Given the description of an element on the screen output the (x, y) to click on. 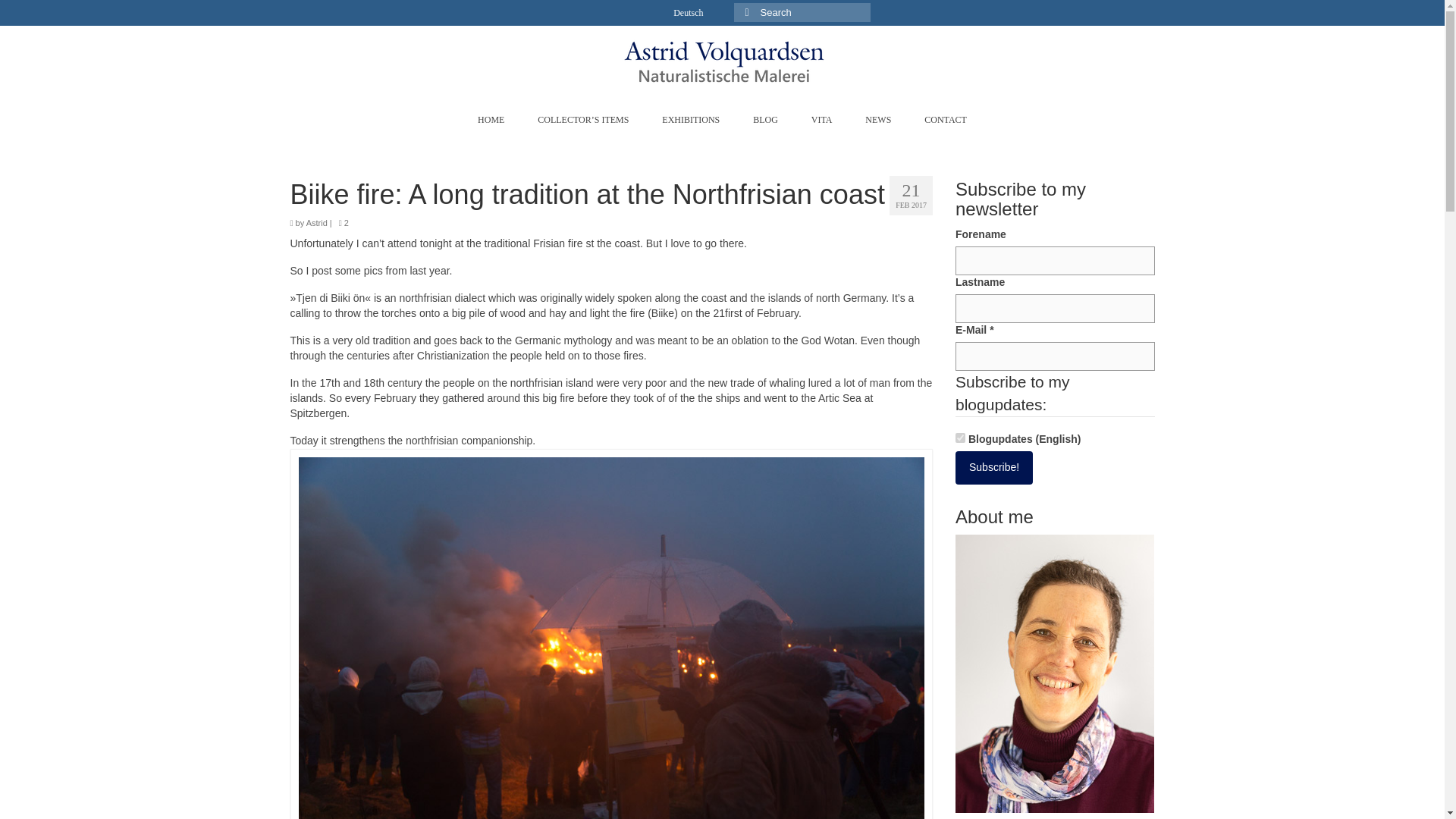
Subscribe! (993, 467)
Astrid Volquardsen (724, 61)
HOME (491, 119)
NEWS (877, 119)
Subscribe! (993, 467)
Deutsch (687, 12)
EXHIBITIONS (690, 119)
Lastname (1054, 308)
E-Mail (1054, 356)
VITA (821, 119)
